Given the description of an element on the screen output the (x, y) to click on. 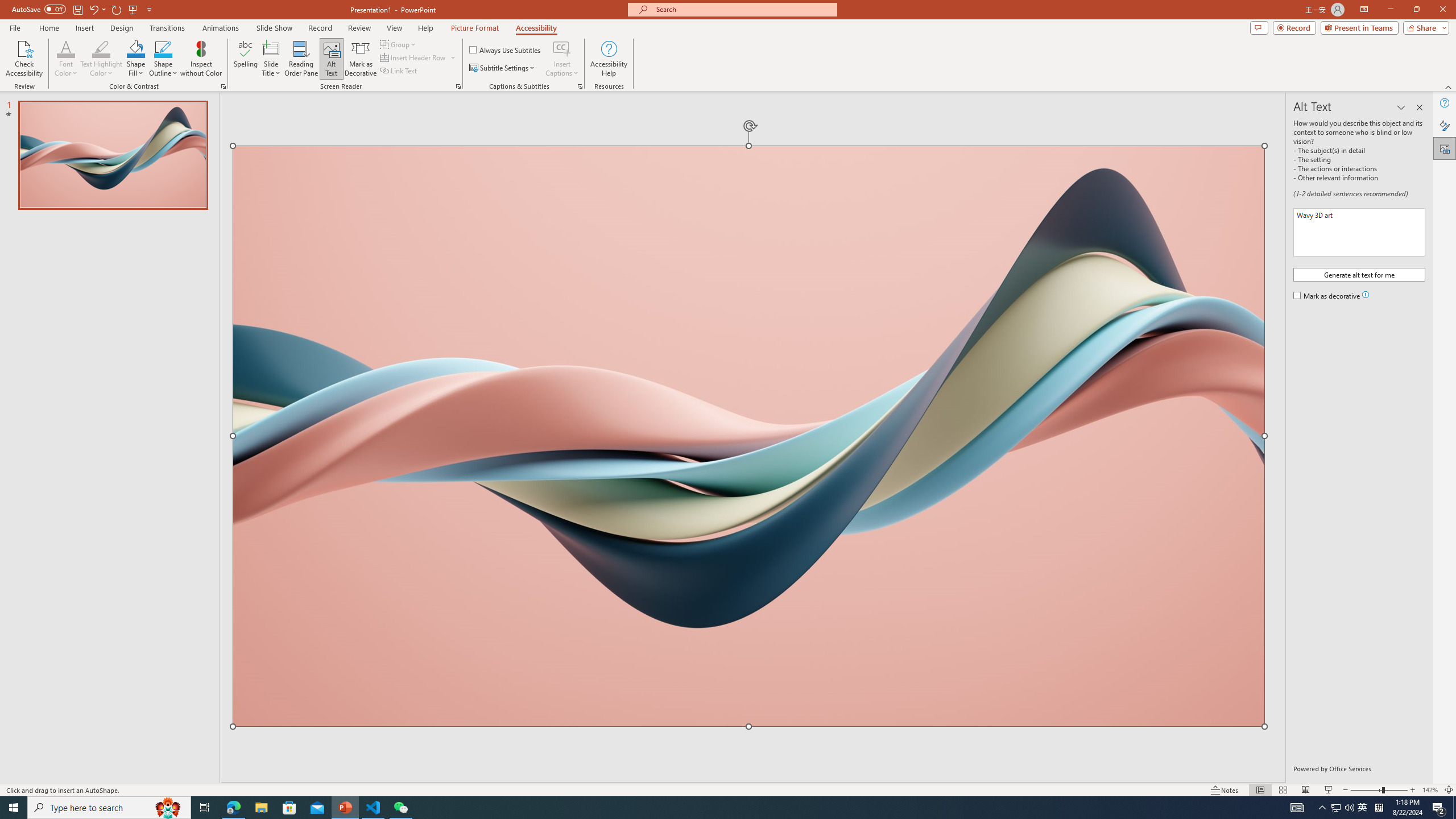
Link Text (399, 69)
Subtitle Settings (502, 67)
Reading Order Pane (301, 58)
